Given the description of an element on the screen output the (x, y) to click on. 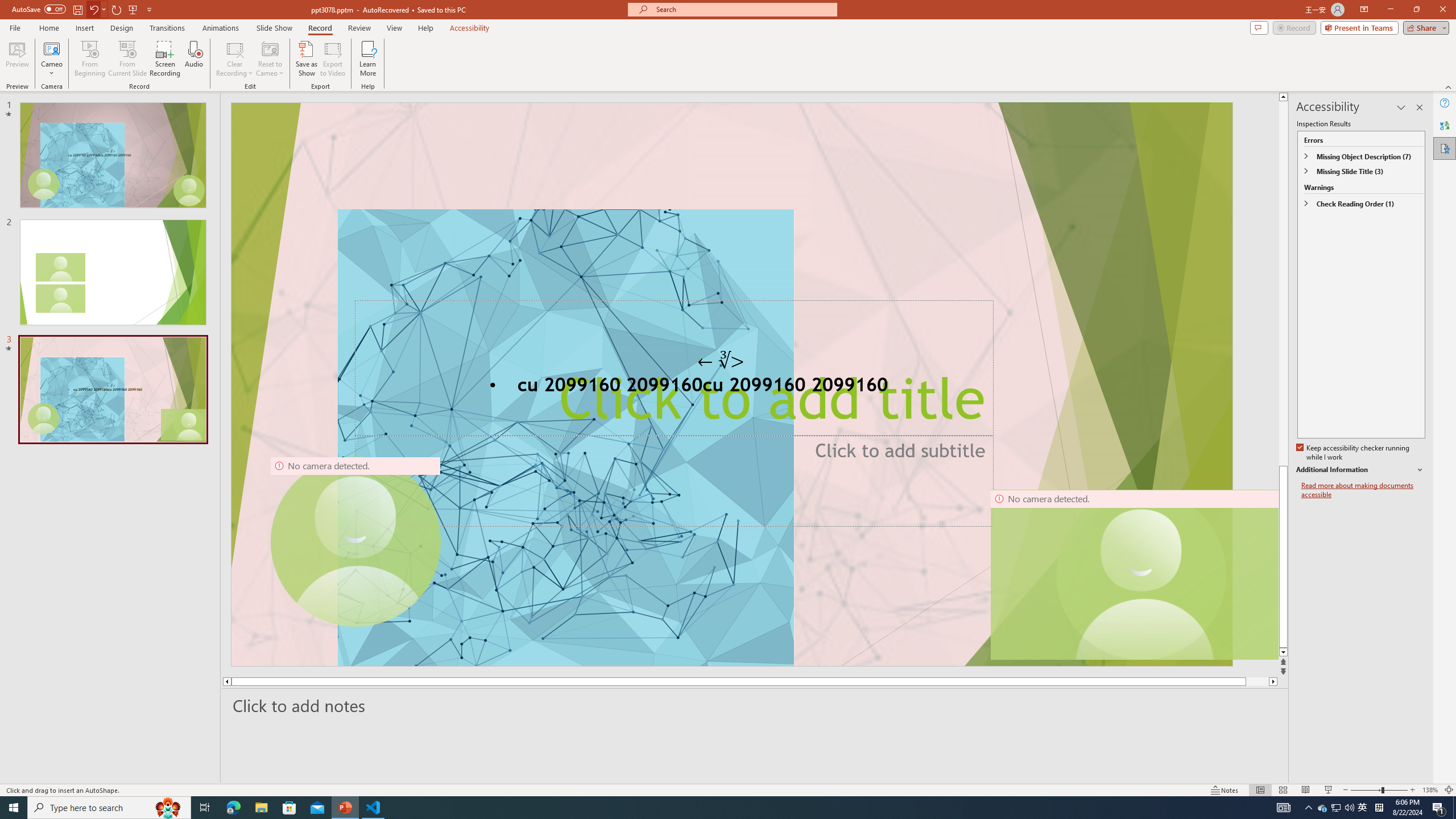
Camera 9, No camera detected. (355, 542)
An abstract genetic concept (731, 384)
